Given the description of an element on the screen output the (x, y) to click on. 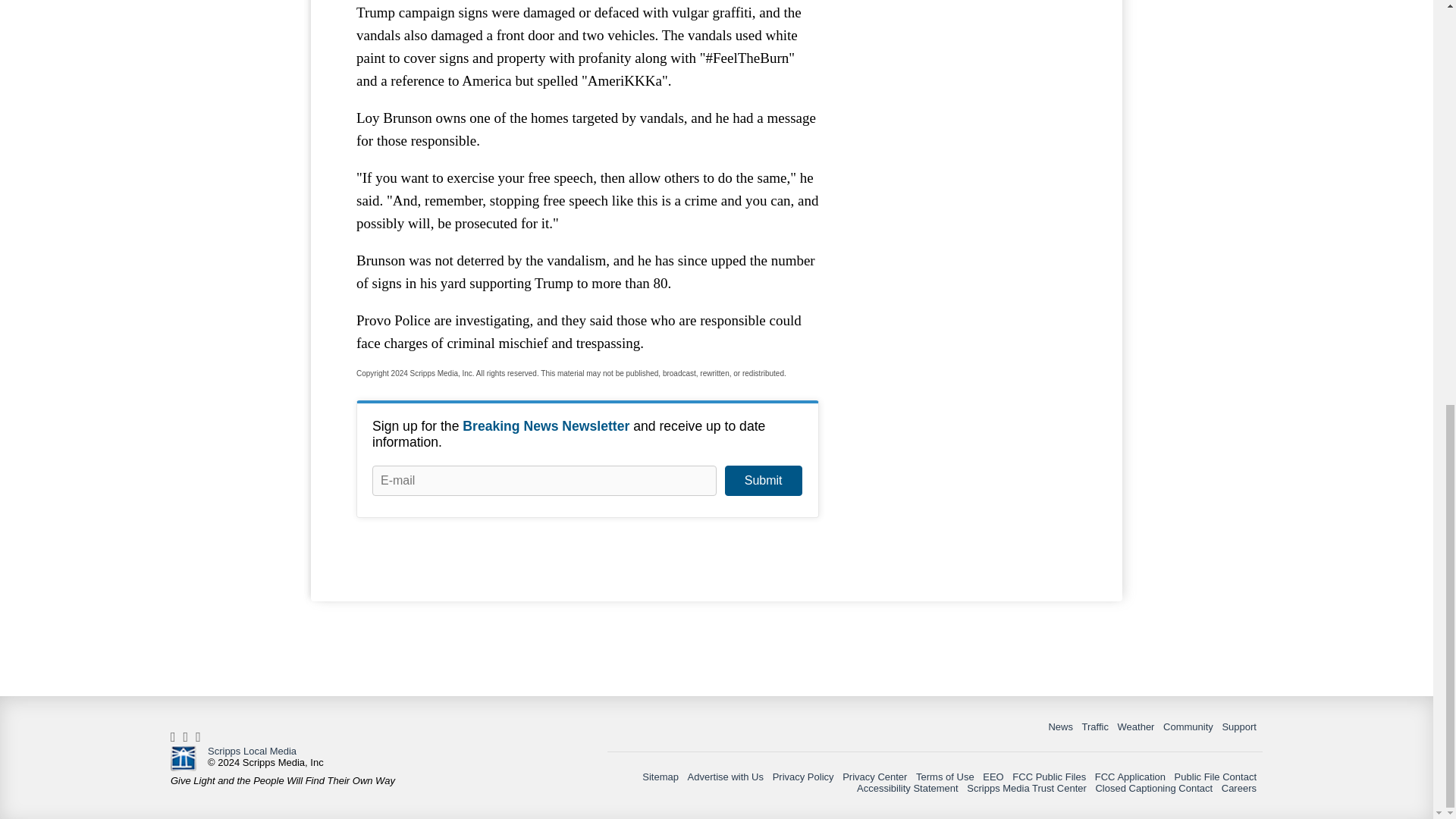
Submit (763, 481)
